Given the description of an element on the screen output the (x, y) to click on. 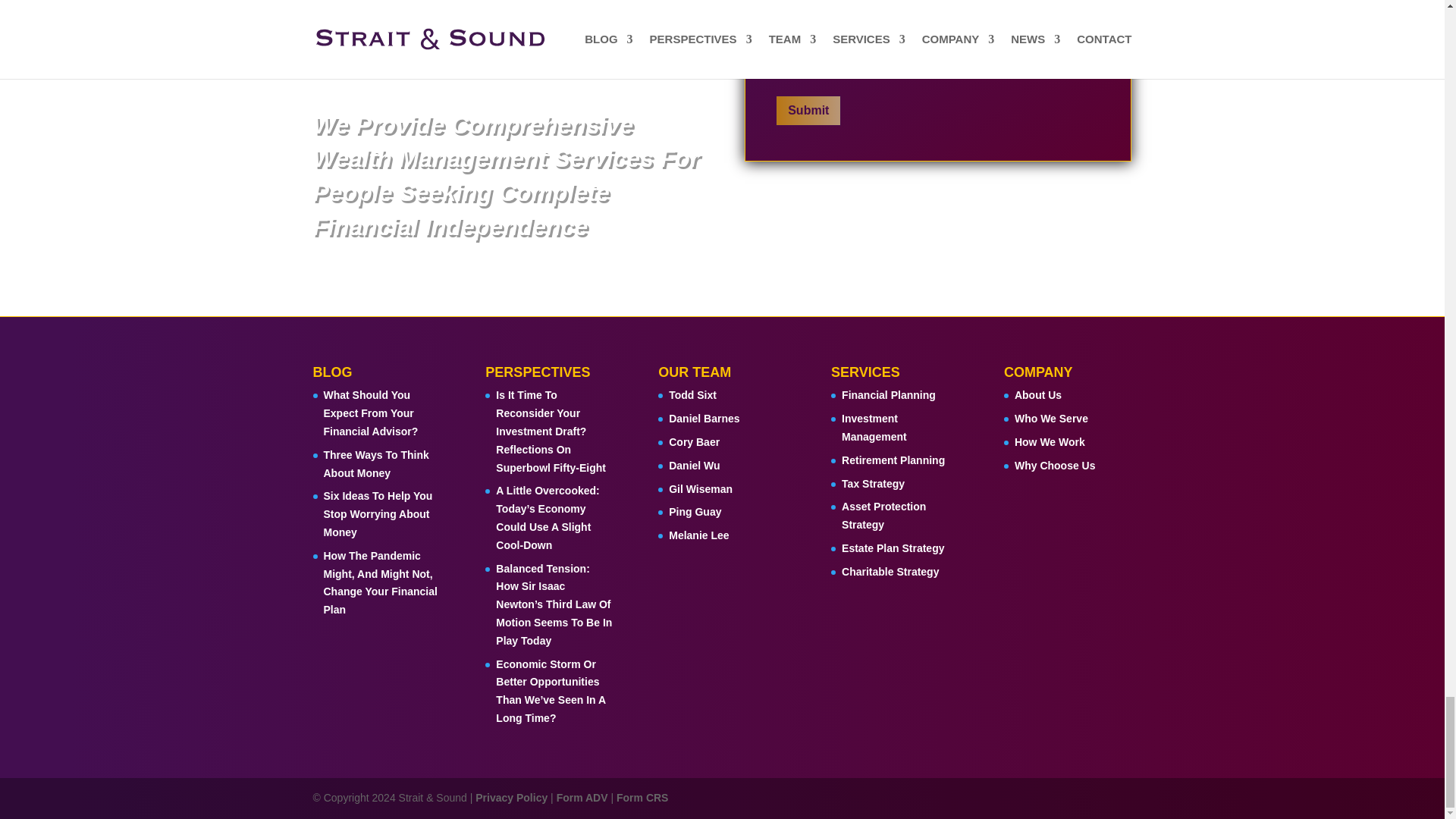
Submit (808, 110)
